Given the description of an element on the screen output the (x, y) to click on. 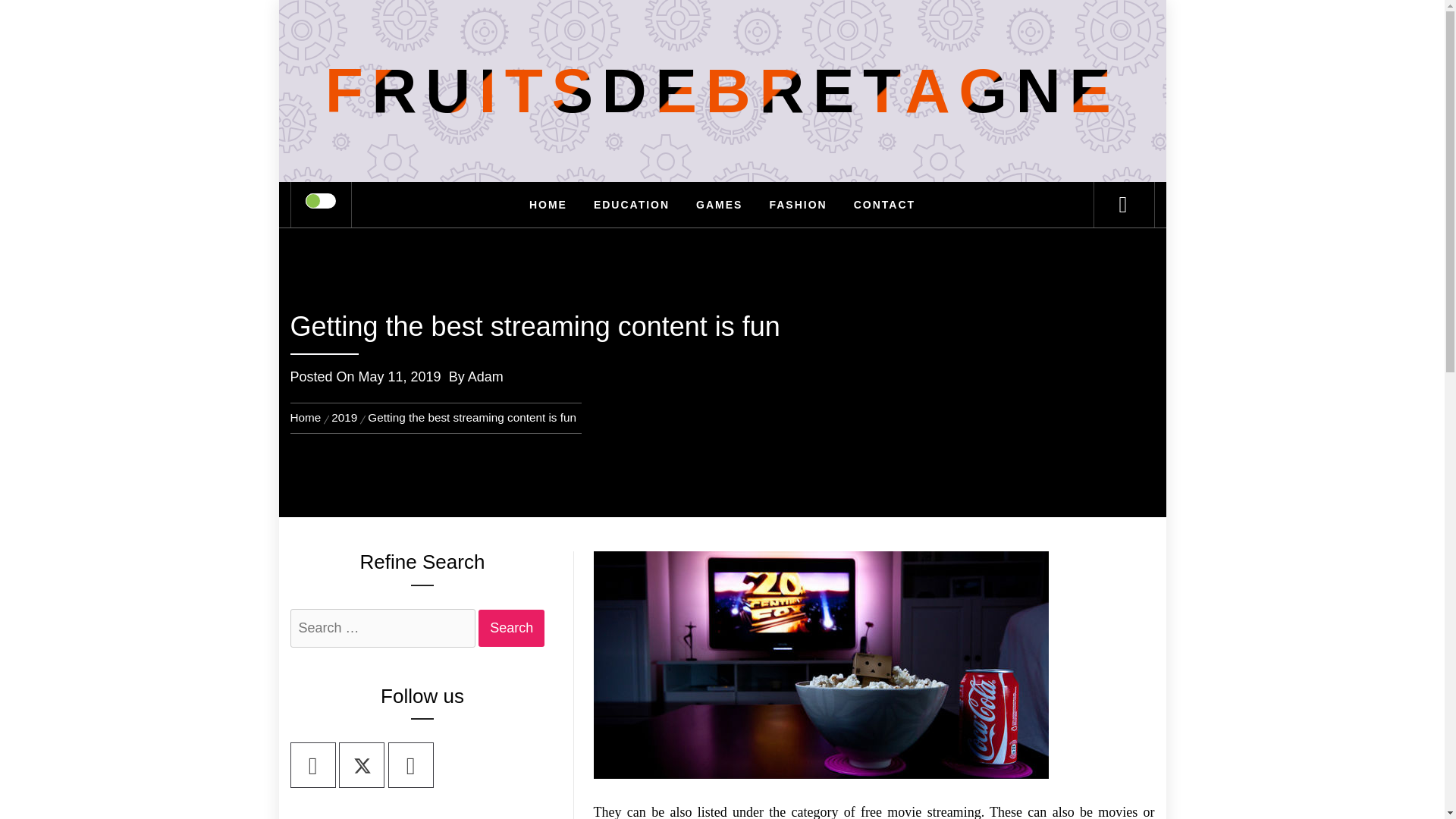
FRUITSDEBRETAGNE (721, 90)
May 11, 2019 (399, 376)
HOME (548, 204)
Home (307, 417)
2019 (344, 417)
Adam (485, 376)
FASHION (797, 204)
Search (511, 628)
EDUCATION (631, 204)
GAMES (719, 204)
Search (511, 628)
Search (511, 628)
CONTACT (884, 204)
Search (797, 33)
